Given the description of an element on the screen output the (x, y) to click on. 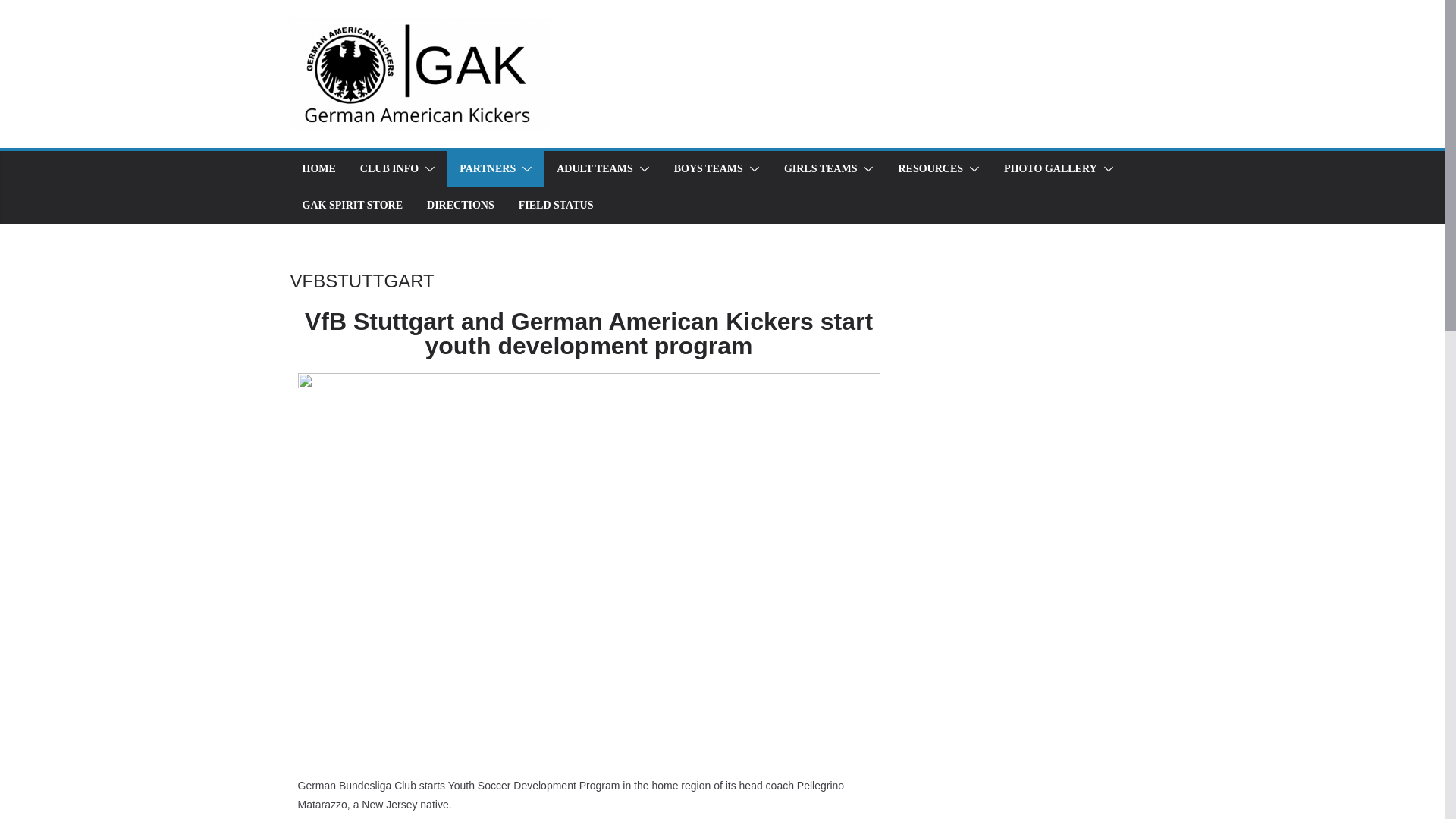
GAK SPIRIT STORE (352, 205)
BOYS TEAMS (708, 168)
CLUB INFO (389, 168)
PHOTO GALLERY (1050, 168)
DIRECTIONS (460, 205)
FIELD STATUS (556, 205)
RESOURCES (930, 168)
GIRLS TEAMS (820, 168)
HOME (317, 168)
PARTNERS (487, 168)
ADULT TEAMS (594, 168)
